Given the description of an element on the screen output the (x, y) to click on. 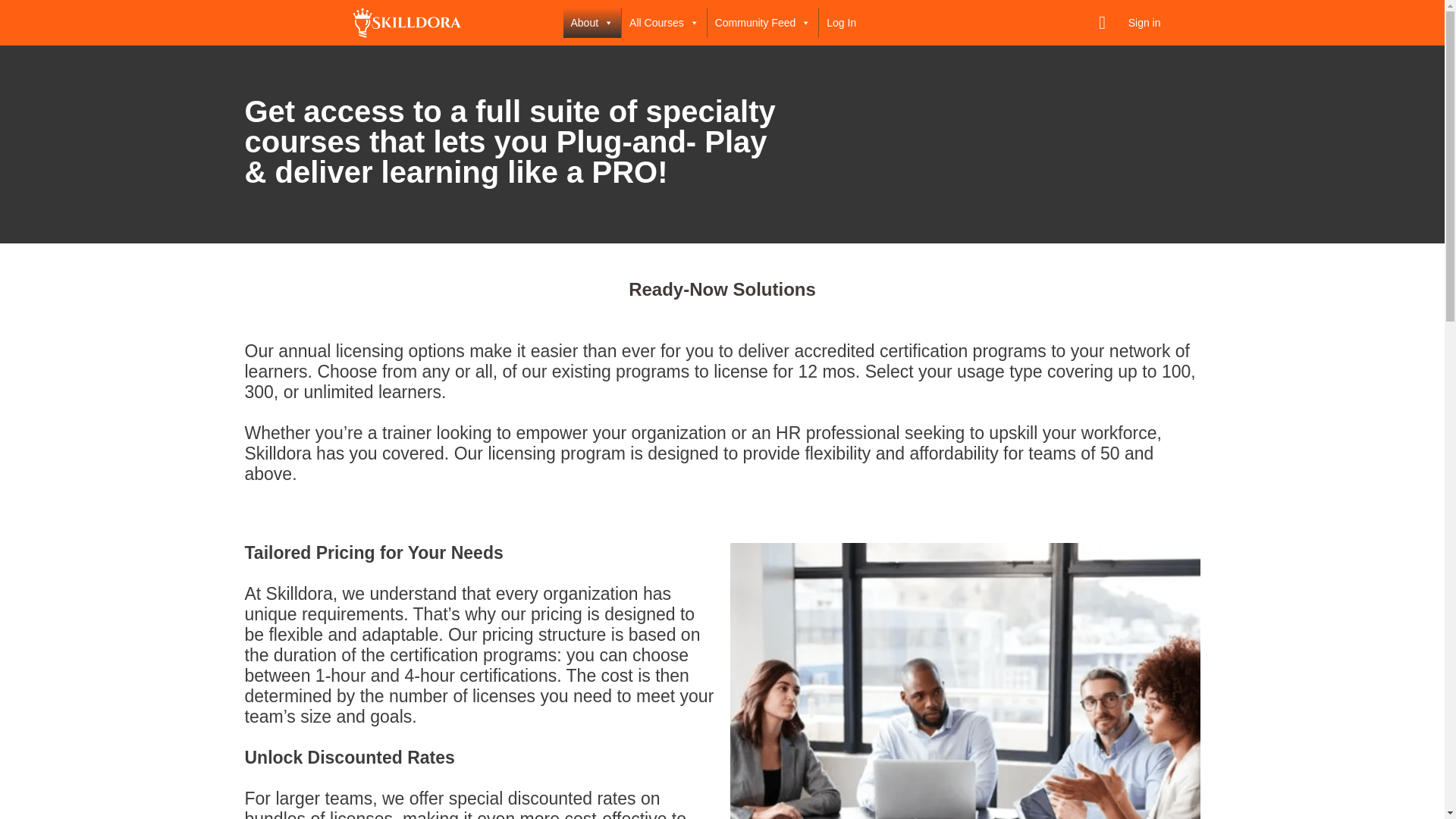
All Courses (663, 22)
Community Feed (762, 22)
About (591, 22)
